Given the description of an element on the screen output the (x, y) to click on. 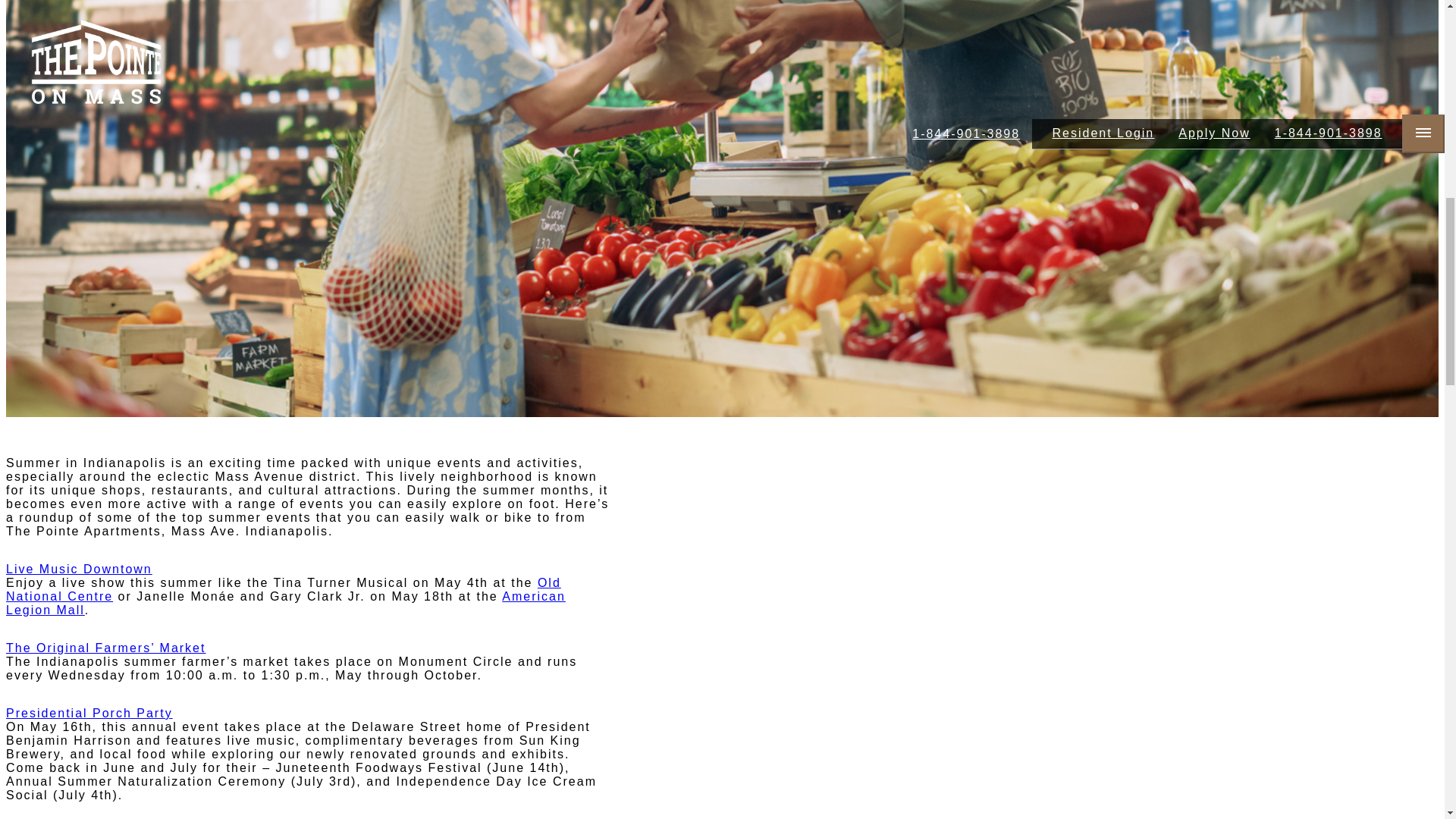
American Legion Mall (285, 602)
Presidential Porch Party (89, 712)
Live Music Downtown (78, 568)
Old National Centre (282, 589)
